Given the description of an element on the screen output the (x, y) to click on. 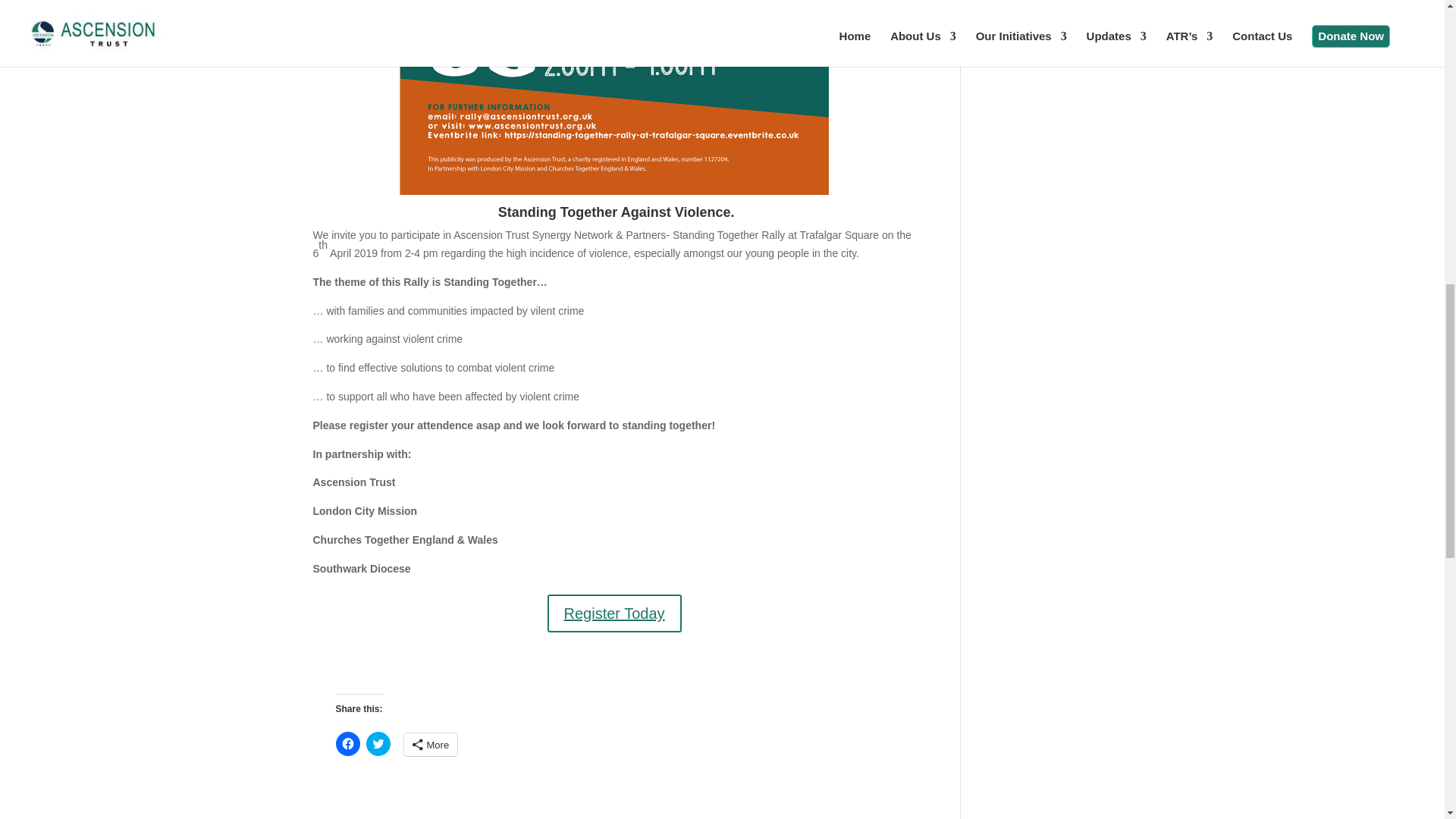
Click to share on Twitter (377, 743)
Click to share on Facebook (346, 743)
